Given the description of an element on the screen output the (x, y) to click on. 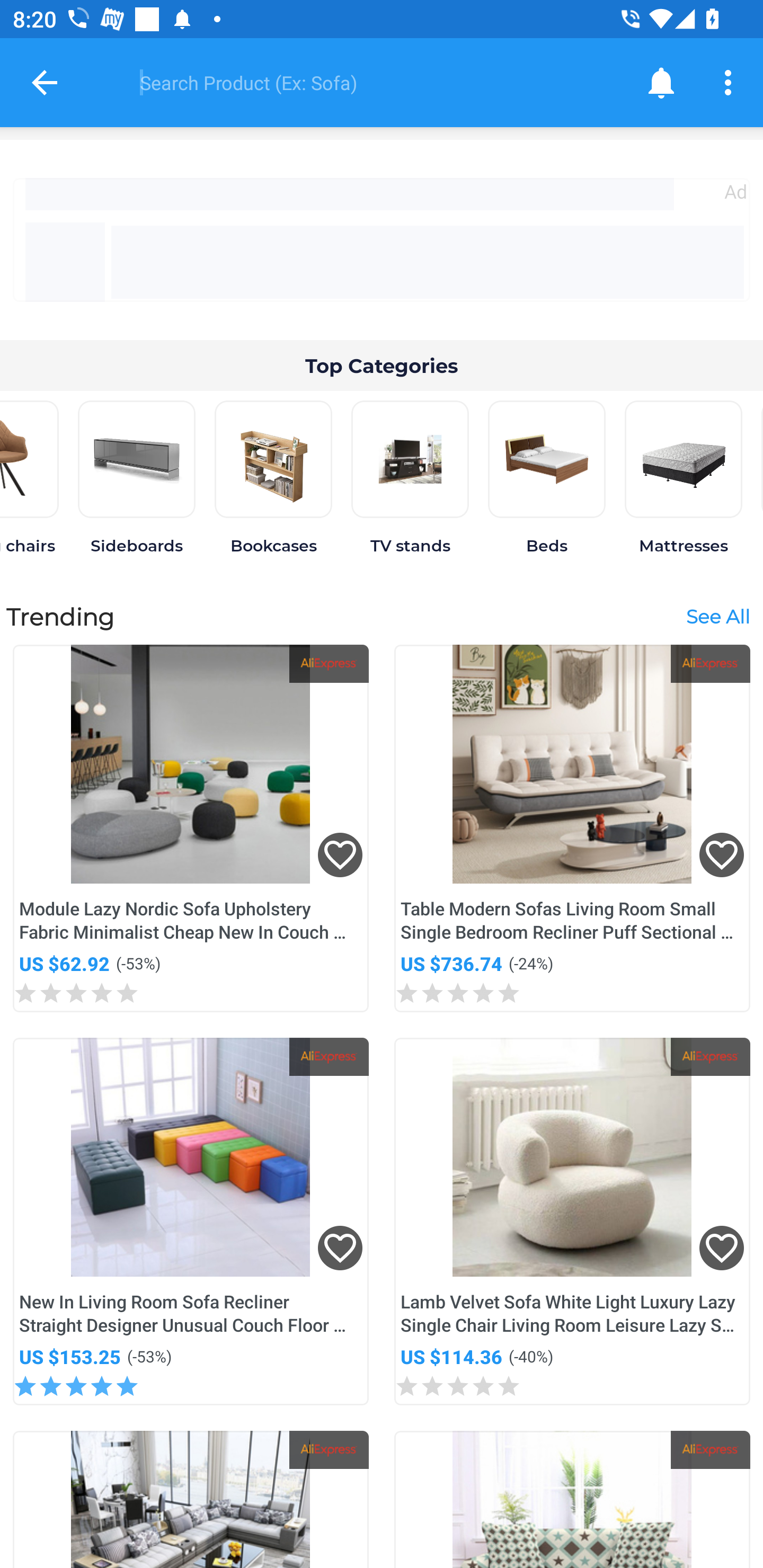
Collapse (44, 82)
More options (731, 81)
Search Product (Ex: Sofa) (368, 82)
See All (717, 615)
